Given the description of an element on the screen output the (x, y) to click on. 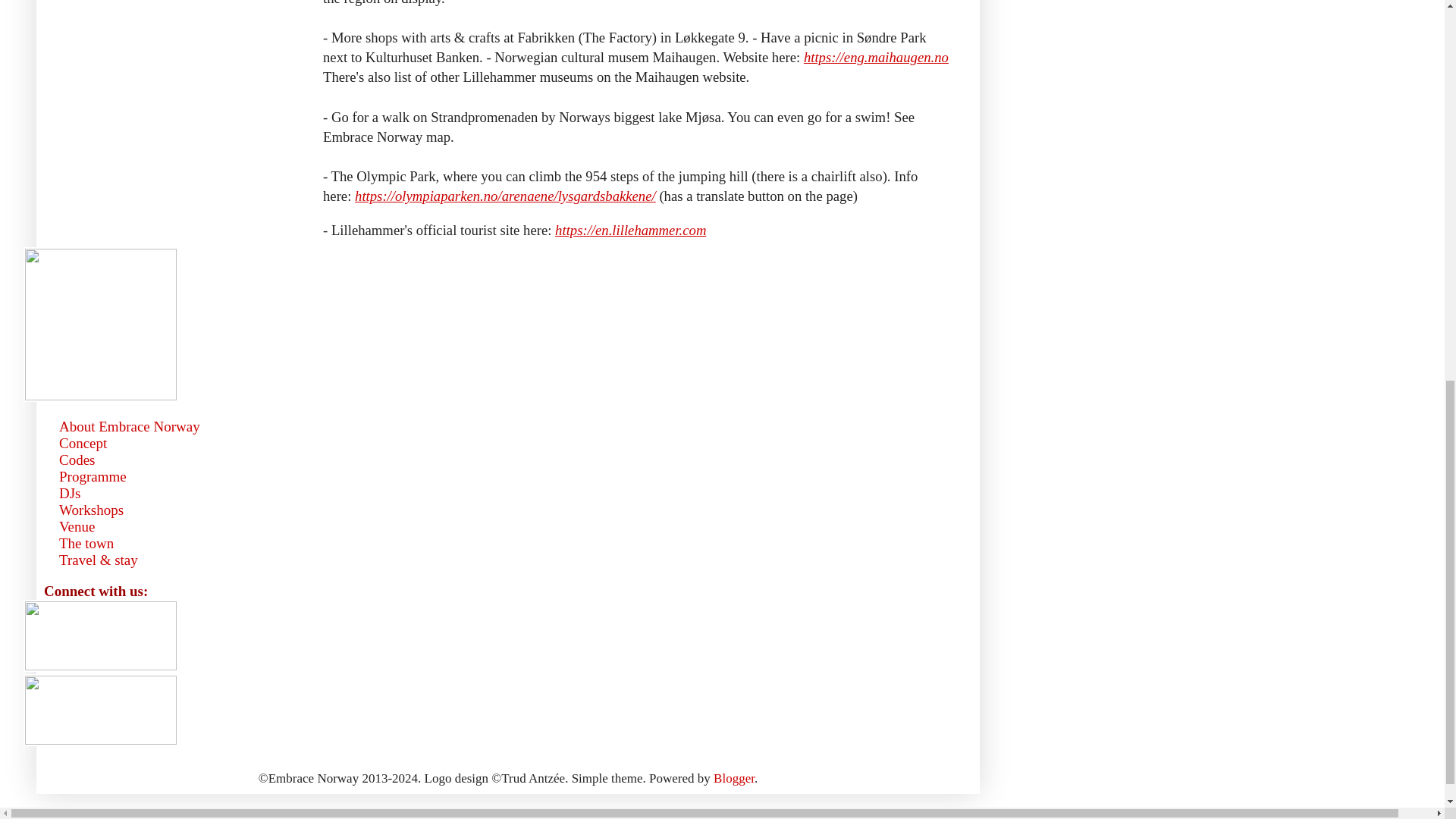
Blogger (733, 778)
Concept (82, 442)
Codes (77, 459)
DJs (70, 493)
The town (86, 543)
Programme (92, 476)
Venue (76, 526)
Workshops (91, 509)
About Embrace Norway (129, 426)
